Given the description of an element on the screen output the (x, y) to click on. 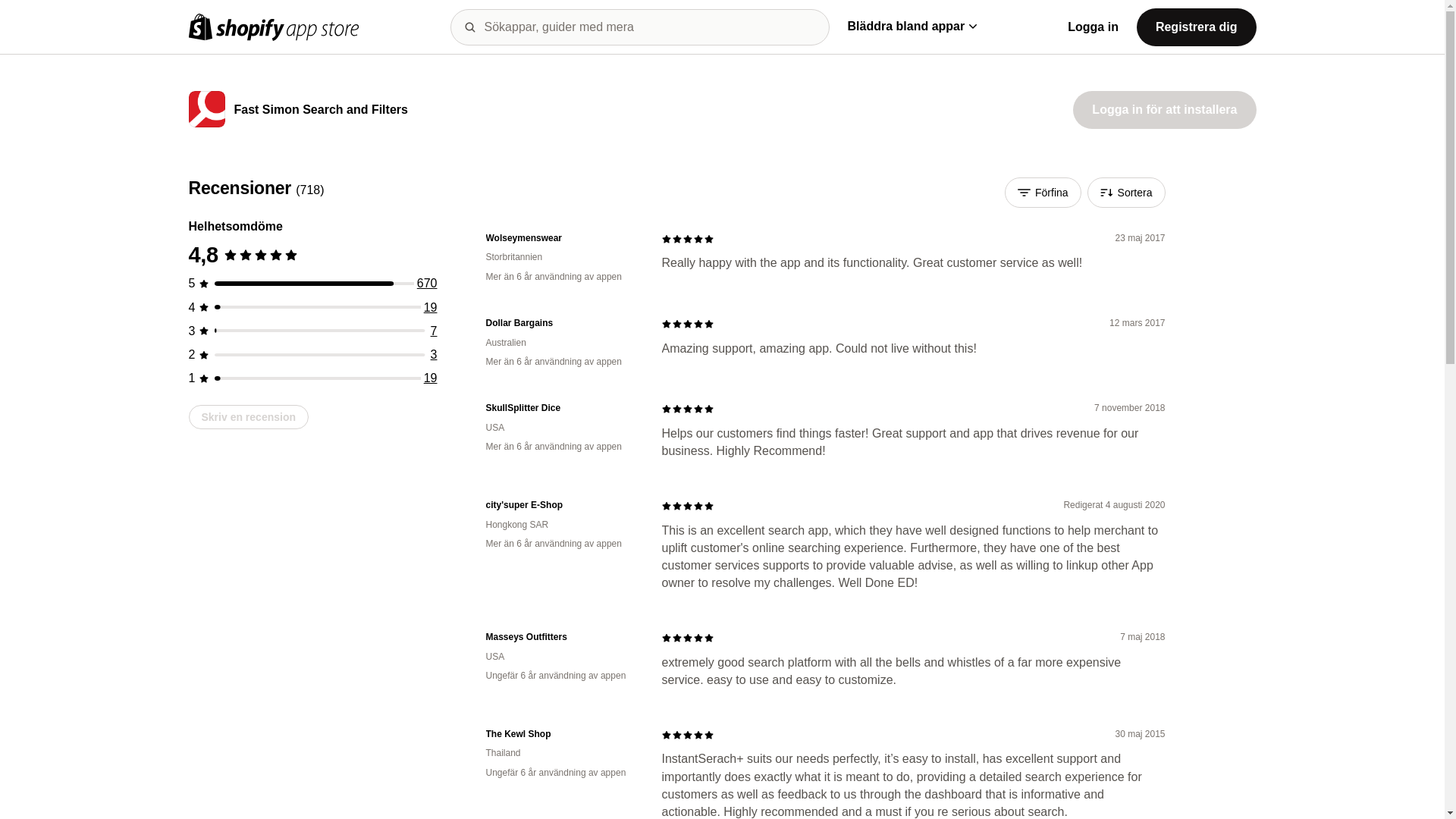
city'super E-Shop (560, 504)
Dollar Bargains (560, 323)
Registrera dig (1196, 26)
Wolseymenswear (560, 237)
SkullSplitter Dice (560, 408)
19 (430, 307)
670 (427, 282)
Logga in (1092, 27)
Masseys Outfitters (560, 636)
19 (430, 377)
Fast Simon Search and Filters (319, 110)
The Kewl Shop (560, 734)
